Given the description of an element on the screen output the (x, y) to click on. 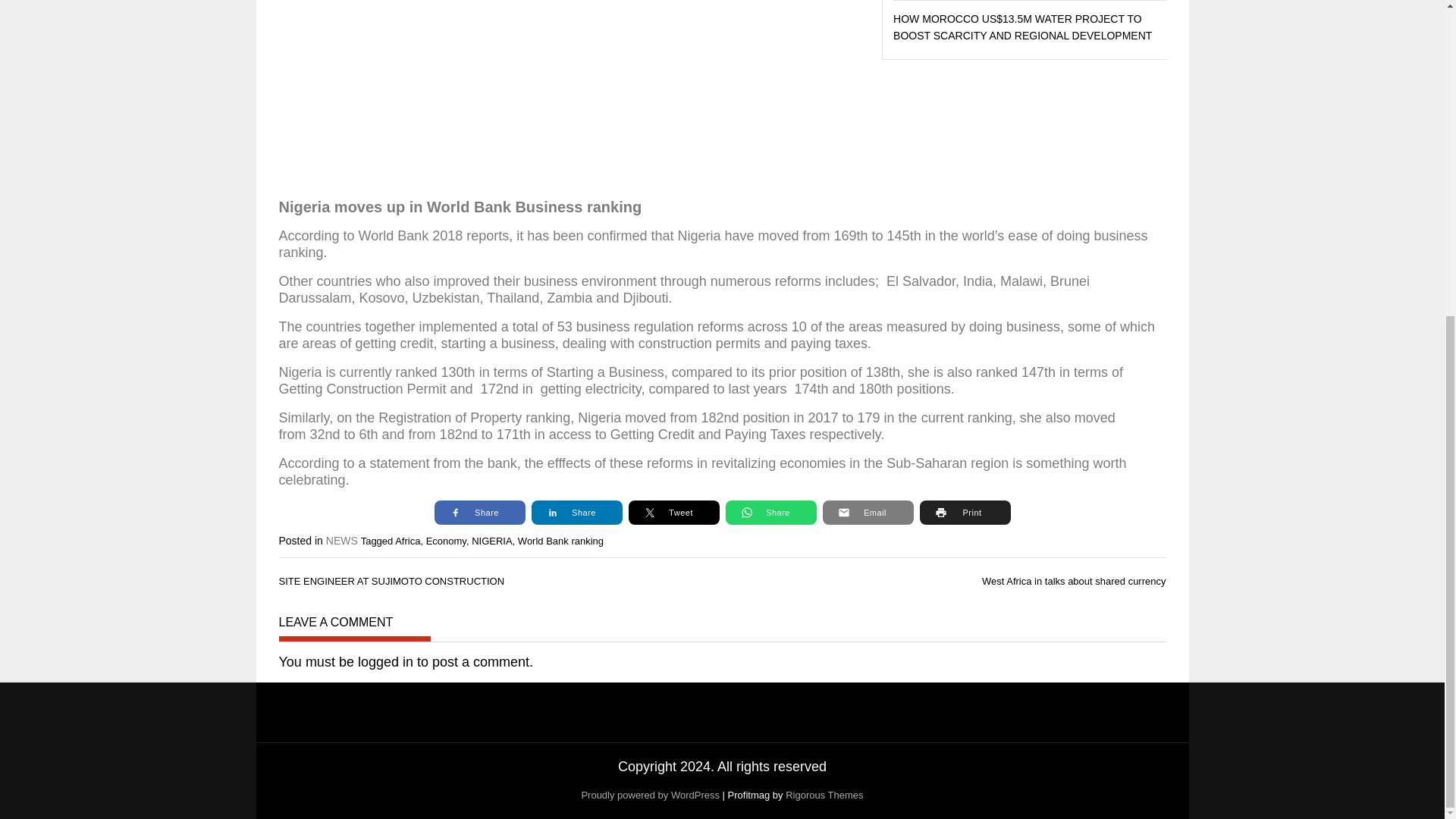
Economy (445, 541)
Africa (407, 541)
NEWS (342, 540)
